Given the description of an element on the screen output the (x, y) to click on. 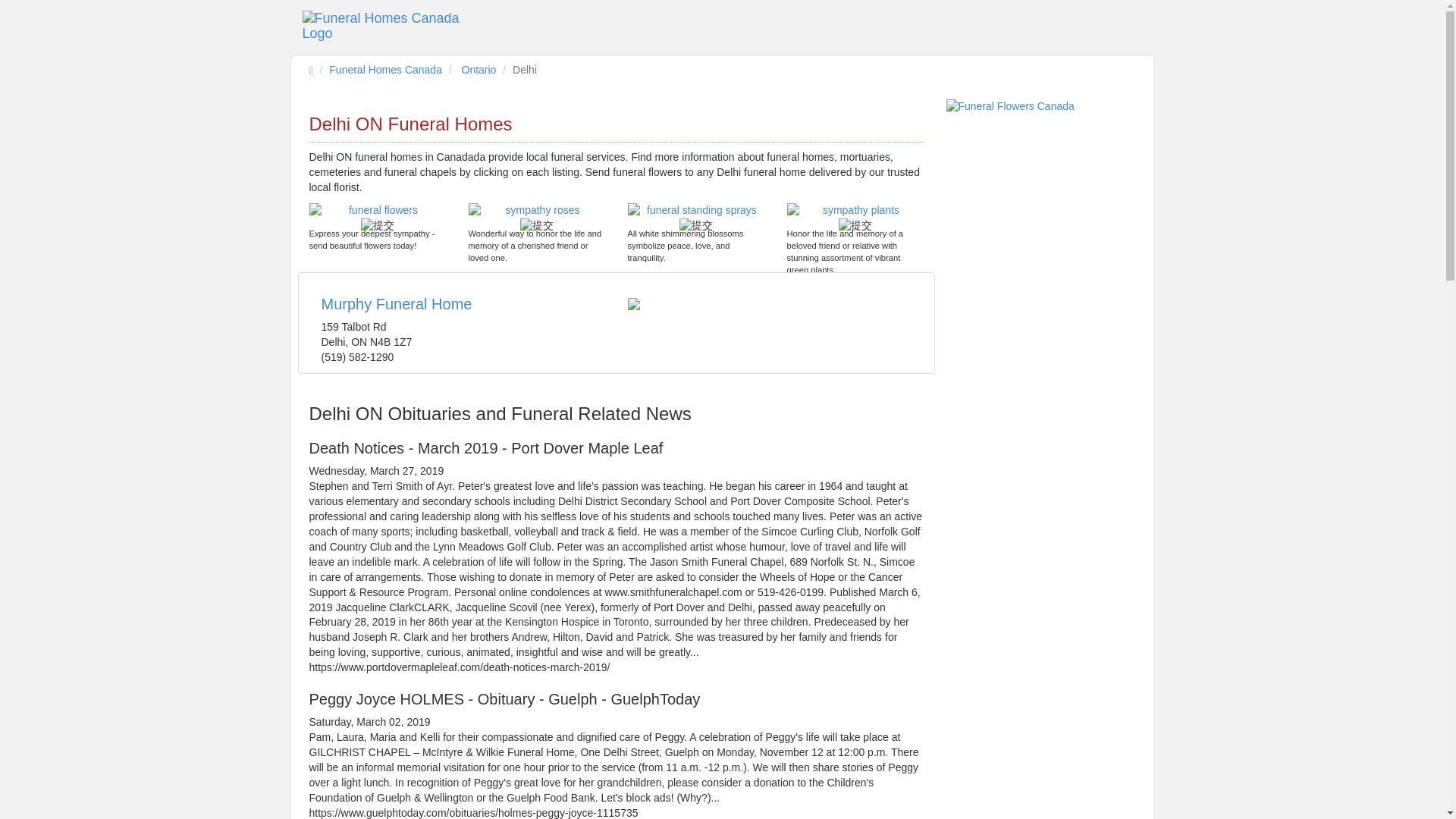
Funeral Homes Canada (385, 69)
Murphy Funeral Home (396, 303)
Ontario (478, 69)
